Given the description of an element on the screen output the (x, y) to click on. 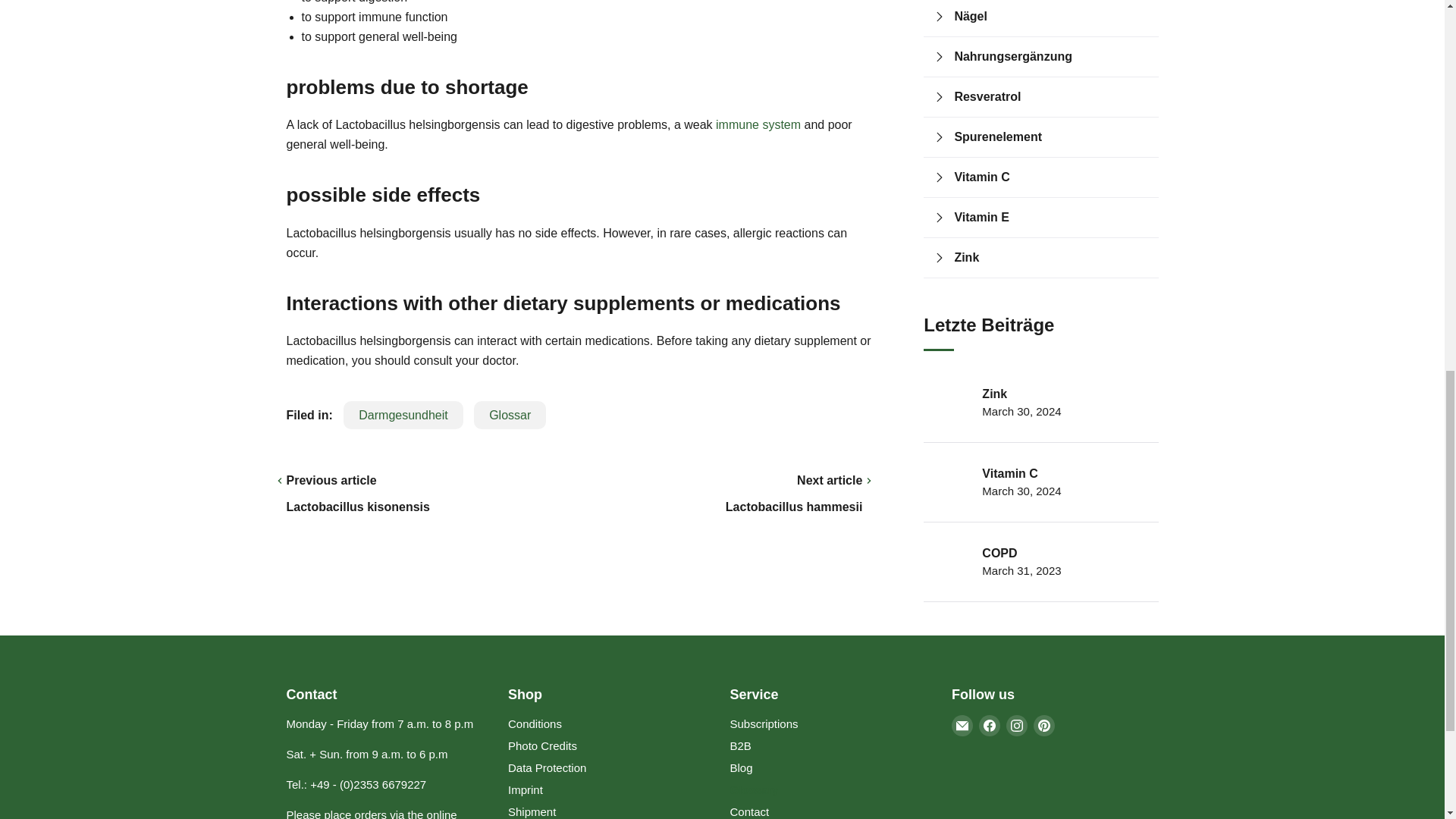
Show articles tagged Zink (1050, 257)
To the shop (371, 813)
Show articles tagged Vitamin C (1050, 177)
Show articles tagged Resveratrol (1050, 96)
Show articles tagged darmgesundheit (403, 415)
immune system (758, 124)
Show articles tagged glossar (510, 415)
Show articles tagged Vitamin E (1050, 217)
Show articles tagged Spurenelement (1050, 137)
